Given the description of an element on the screen output the (x, y) to click on. 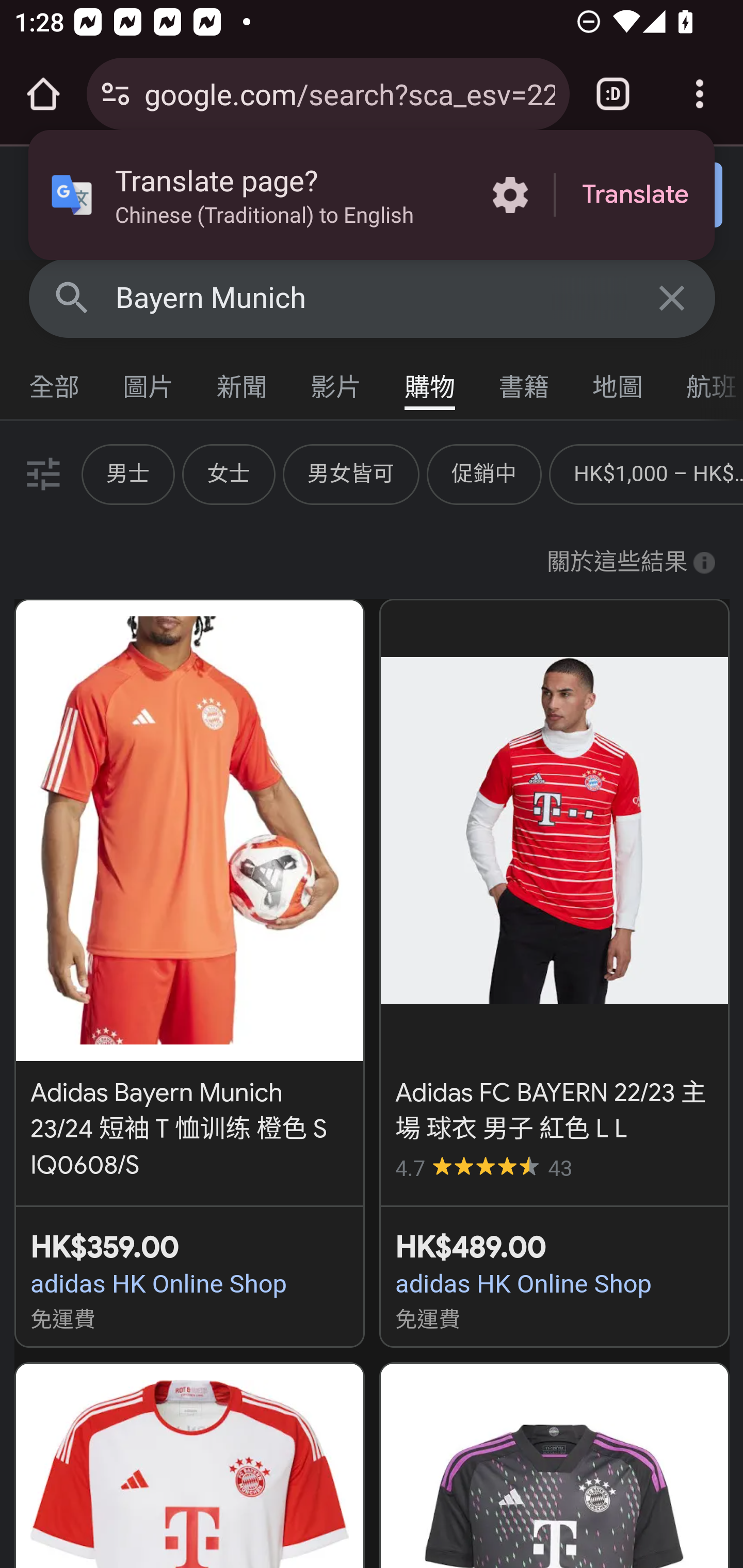
Open the home page (43, 93)
Connection is secure (115, 93)
Switch or close tabs (612, 93)
Customize and control Google Chrome (699, 93)
主選單 (54, 202)
More options in the Translate page? (509, 195)
登入 (650, 195)
Google 搜尋 (71, 296)
清除搜尋內容 (672, 296)
Bayern Munich (372, 297)
全部 (54, 382)
圖片 (148, 382)
新聞 (242, 382)
影片 (336, 382)
書籍 (524, 382)
地圖 (618, 382)
航班 (703, 382)
篩選器.未套用任何篩選條件。 (41, 473)
男士 (127, 473)
女士 (228, 473)
男女皆可 (350, 473)
促銷中 (484, 473)
HK$1,000 – HK$4,000 (657, 473)
關於這些結果 More info 關於這些結果  More info (630, 562)
Adidas Bayern Munich 23/24 短袖 T 恤训练 橙色 S IQ0608/S (189, 890)
